Given the description of an element on the screen output the (x, y) to click on. 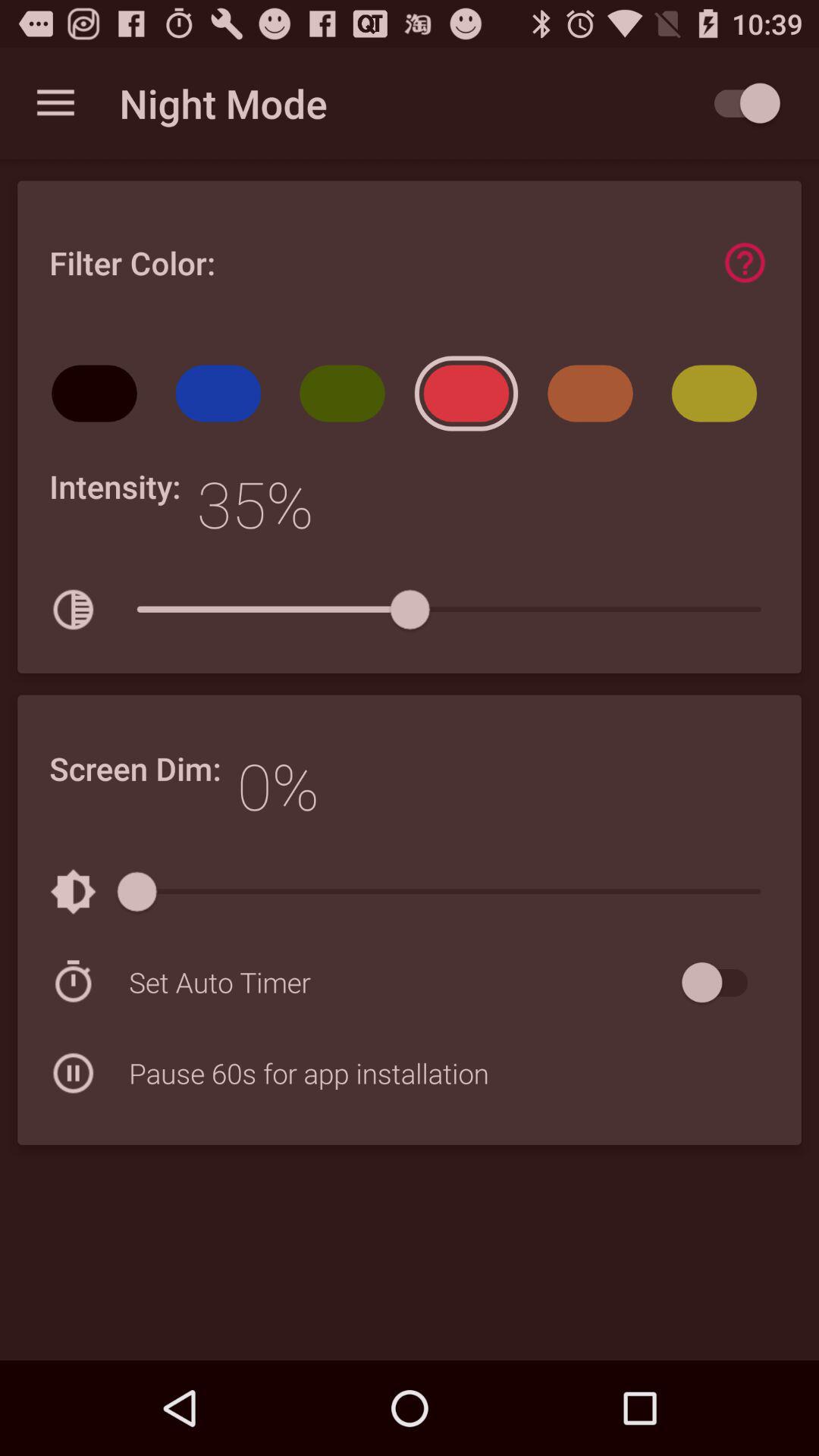
toggle on/off (722, 982)
